Given the description of an element on the screen output the (x, y) to click on. 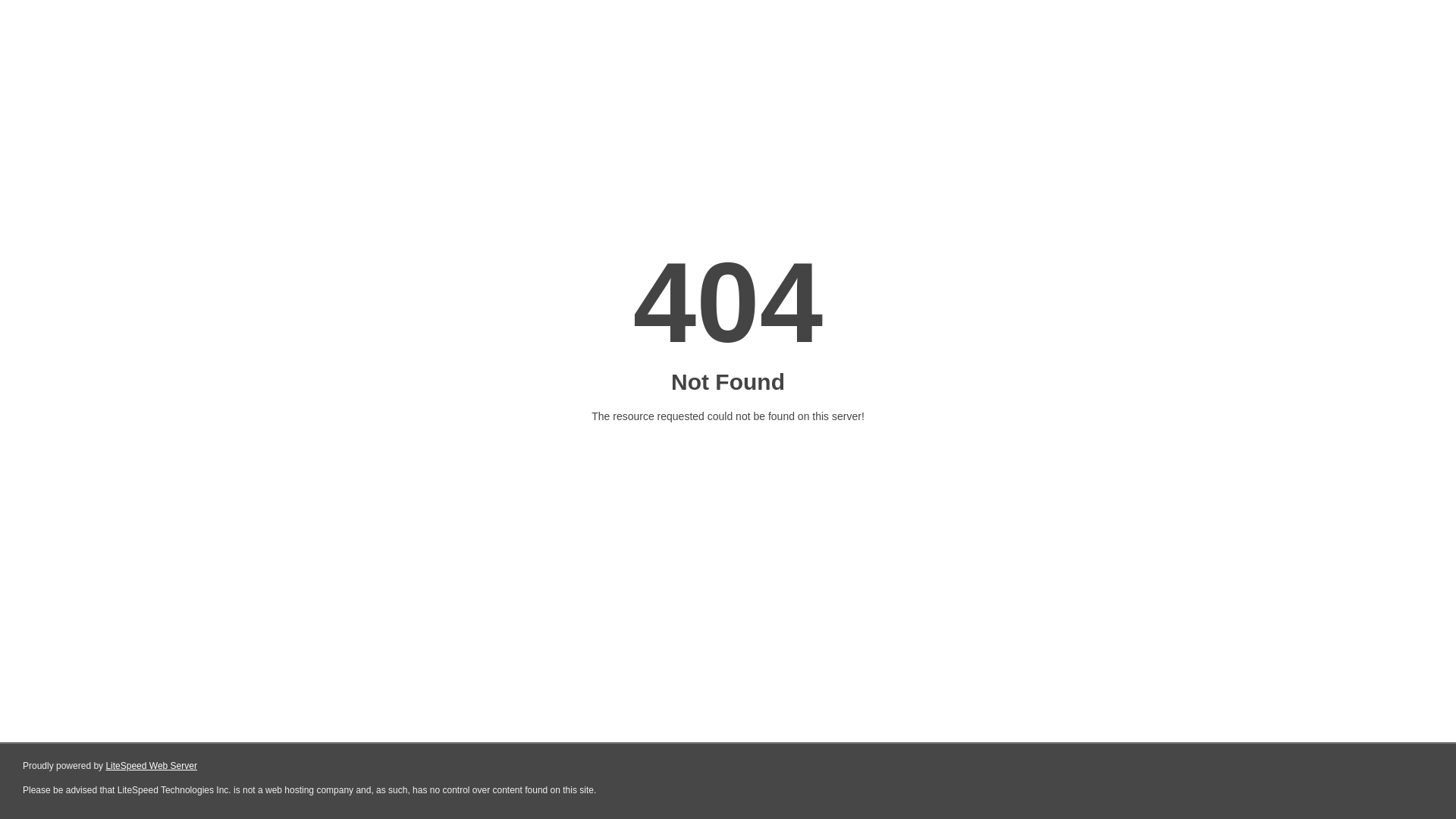
LiteSpeed Web Server Element type: text (151, 765)
